Given the description of an element on the screen output the (x, y) to click on. 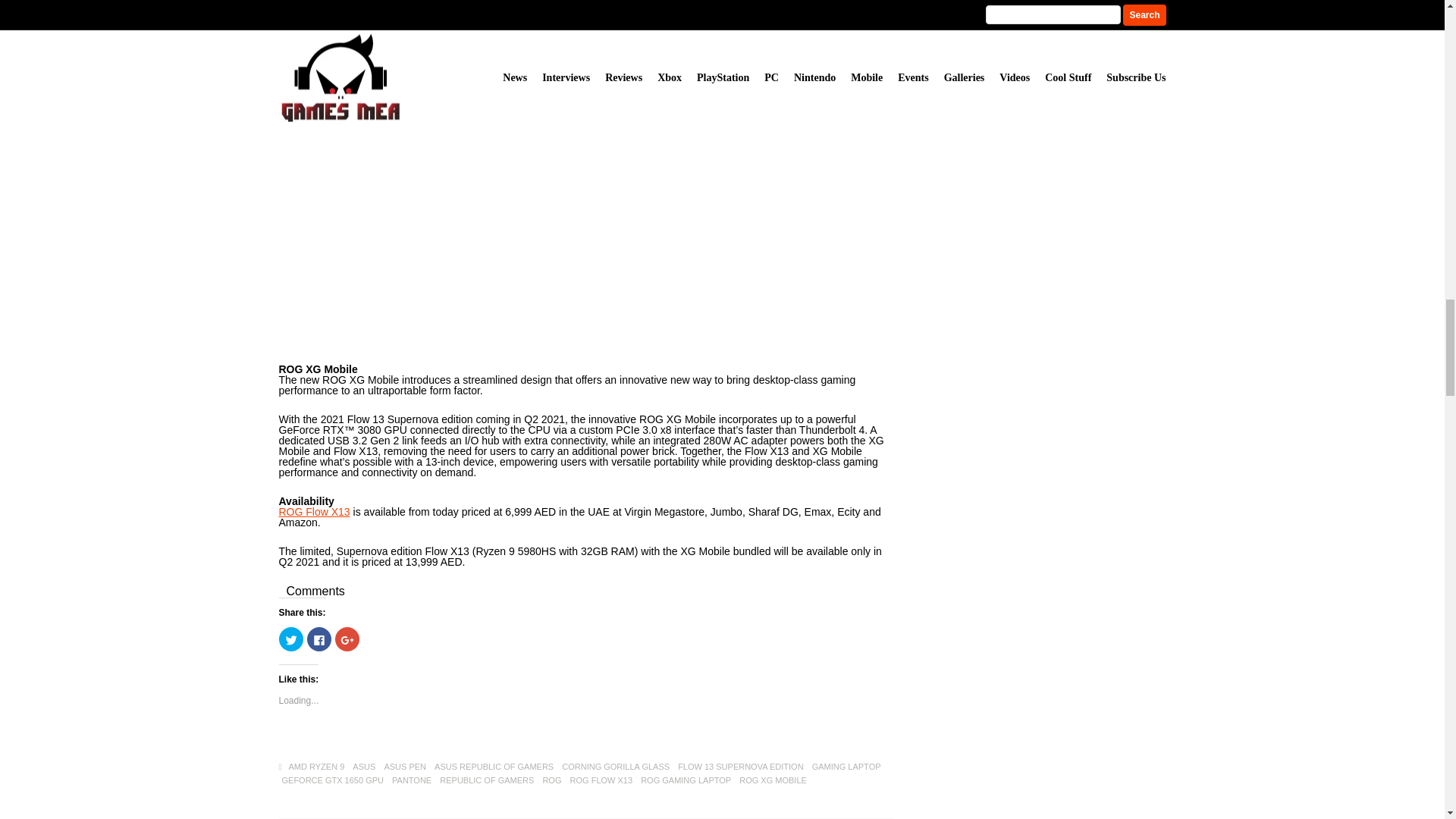
Click to share on Twitter (290, 639)
ROG Flow X13 (314, 511)
Click to share on Facebook (317, 639)
